Given the description of an element on the screen output the (x, y) to click on. 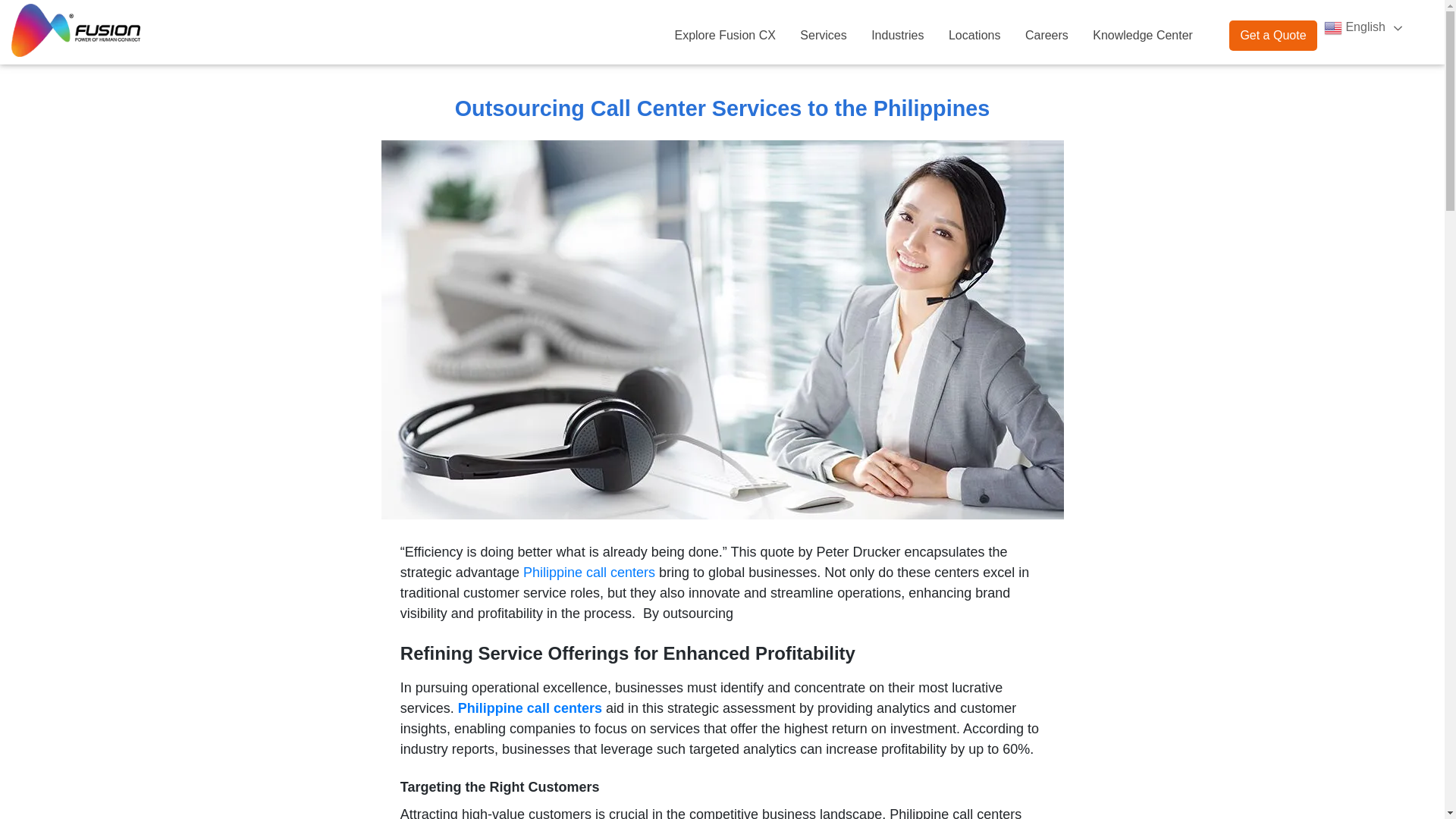
Explore Fusion CX (724, 35)
Industries (897, 35)
Services (823, 35)
